Given the description of an element on the screen output the (x, y) to click on. 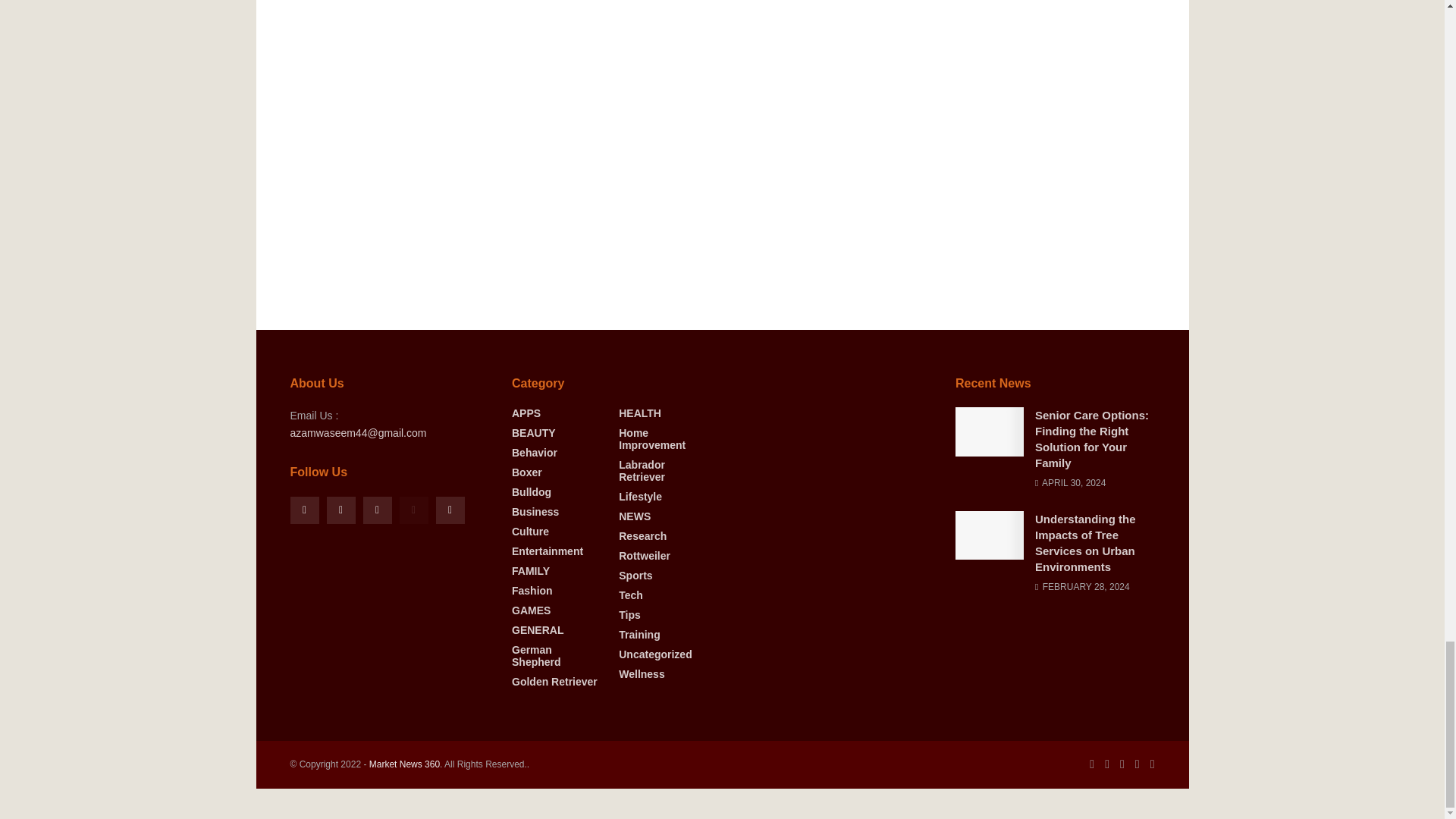
marketnews360 (404, 764)
